Given the description of an element on the screen output the (x, y) to click on. 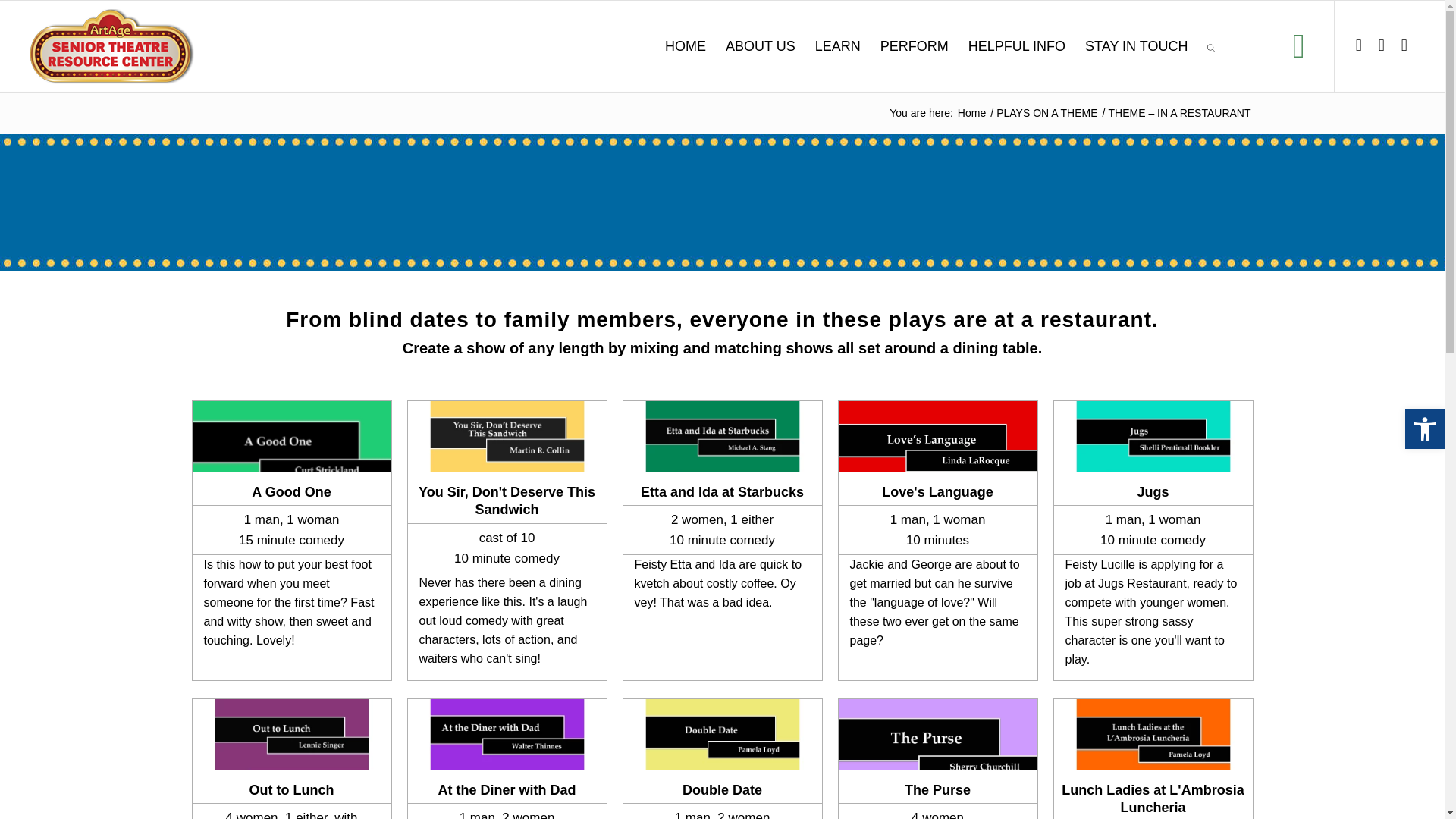
PLAYS ON A THEME (1046, 112)
Senior-Theater-Logo-Master (111, 45)
Instagram (1404, 45)
X (1381, 45)
Accessibility Tools (1424, 428)
ABOUT US (760, 45)
Facebook (1359, 45)
PERFORM (914, 45)
ArtAge Publications' Senior Theatre Resource Center (971, 112)
